Given the description of an element on the screen output the (x, y) to click on. 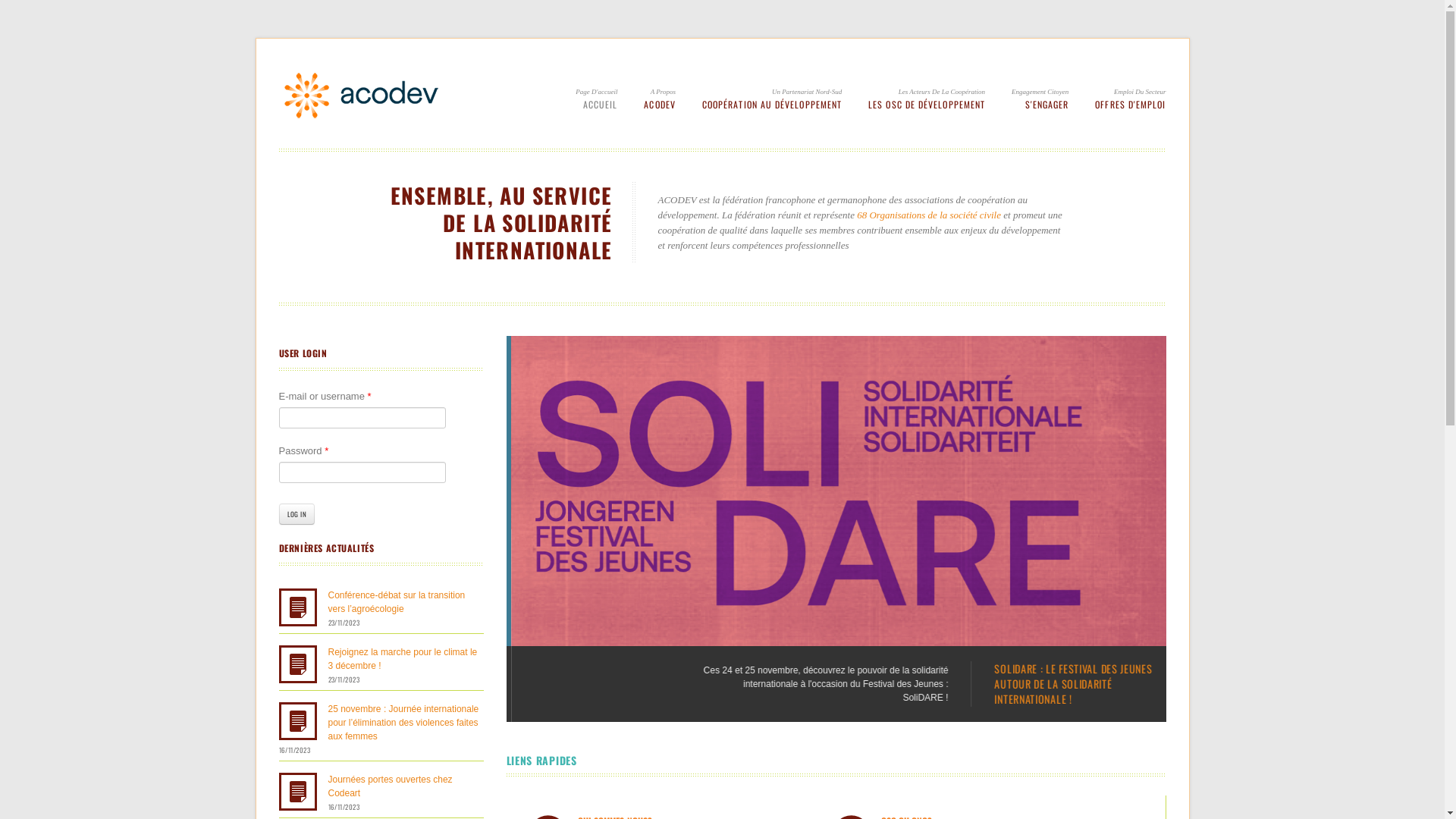
ACODEV Element type: text (658, 104)
Page D'Accueil Element type: text (596, 91)
S'ENGAGER Element type: text (1039, 104)
A Propos Element type: text (665, 91)
Log in Element type: text (297, 513)
OFFRES D'EMPLOI Element type: text (1130, 104)
Emploi Du Secteur Element type: text (1148, 91)
Engagement Citoyen Element type: text (1039, 91)
Un Partenariat Nord-Sud Element type: text (841, 91)
ACCUEIL Element type: text (596, 104)
